Given the description of an element on the screen output the (x, y) to click on. 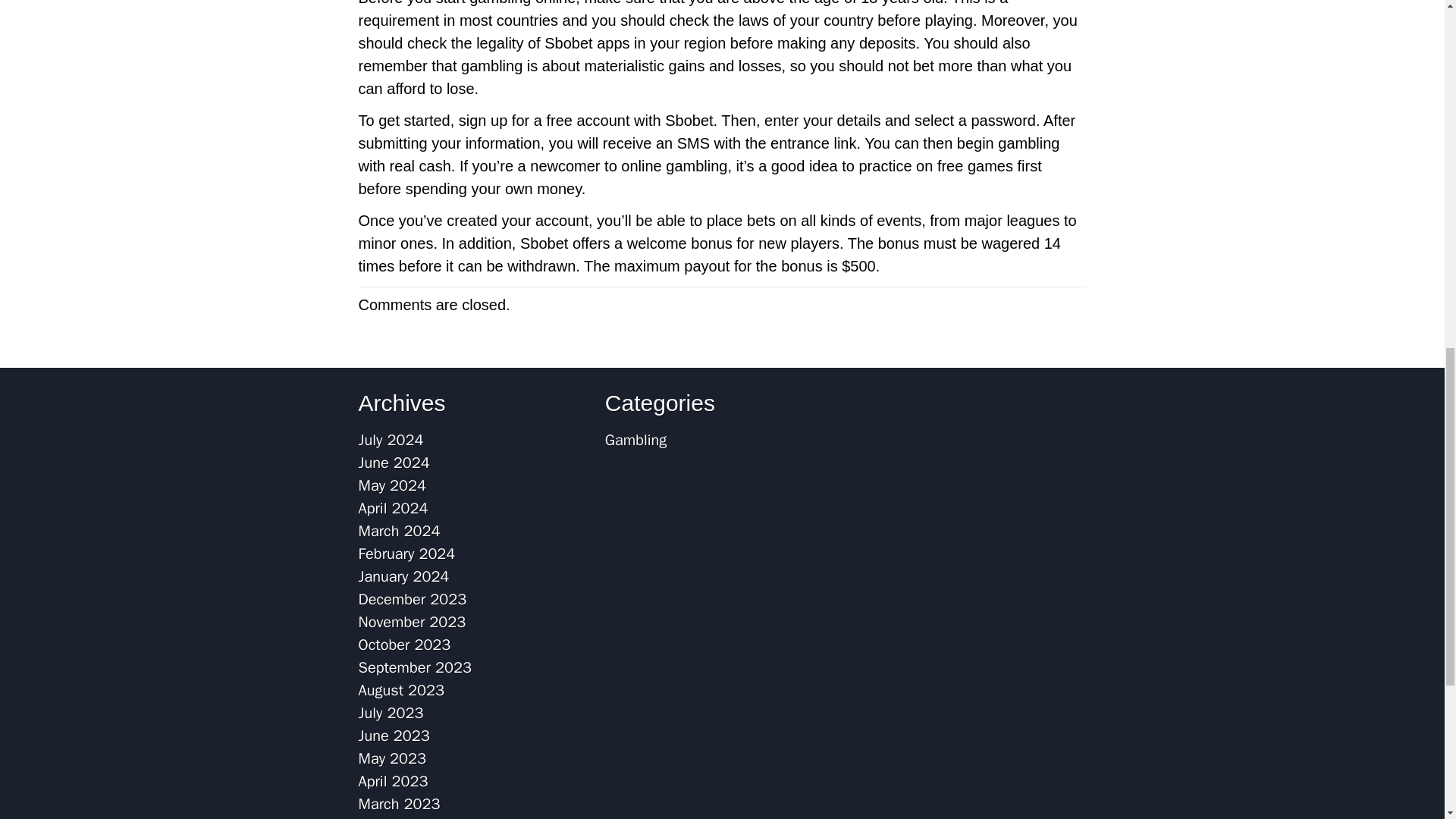
June 2024 (393, 462)
December 2023 (411, 599)
March 2024 (398, 530)
May 2024 (392, 485)
February 2023 (406, 818)
February 2024 (406, 553)
November 2023 (411, 621)
March 2023 (398, 804)
July 2023 (390, 712)
April 2023 (393, 781)
Gambling (635, 439)
May 2023 (392, 758)
August 2023 (401, 690)
January 2024 (403, 576)
July 2024 (390, 439)
